Given the description of an element on the screen output the (x, y) to click on. 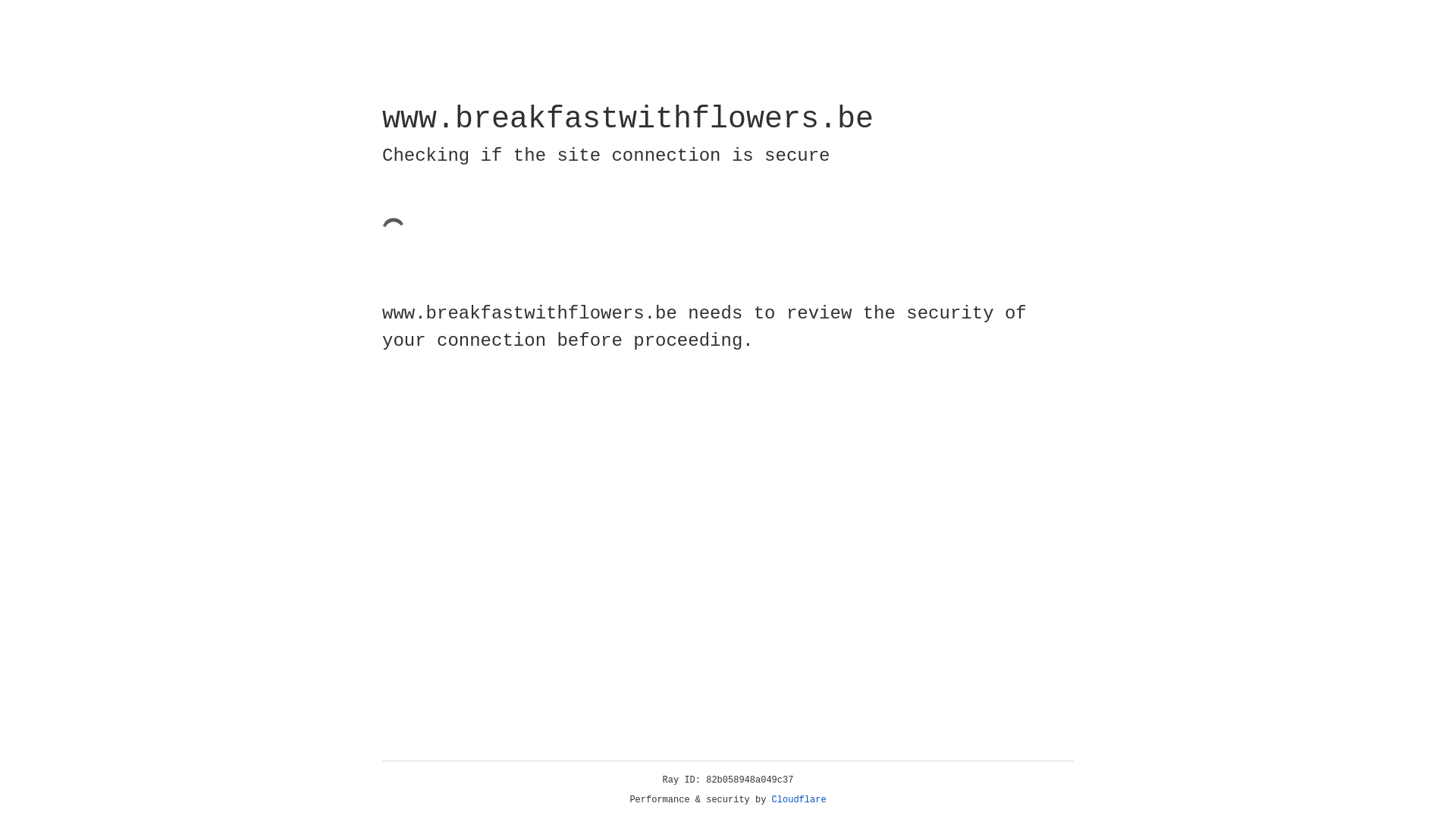
Cloudflare Element type: text (798, 799)
